Given the description of an element on the screen output the (x, y) to click on. 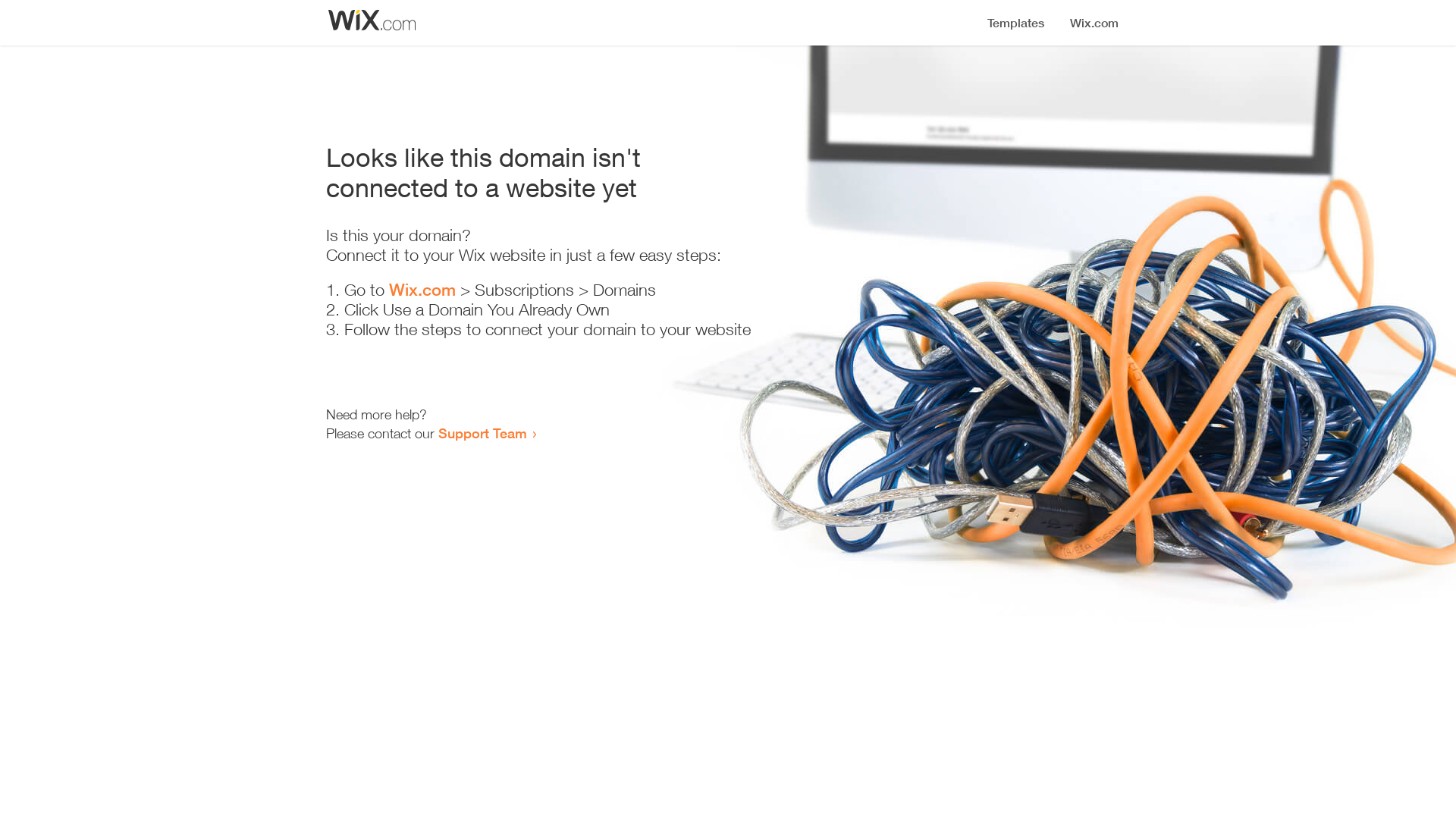
Wix.com Element type: text (422, 289)
Support Team Element type: text (482, 432)
